Given the description of an element on the screen output the (x, y) to click on. 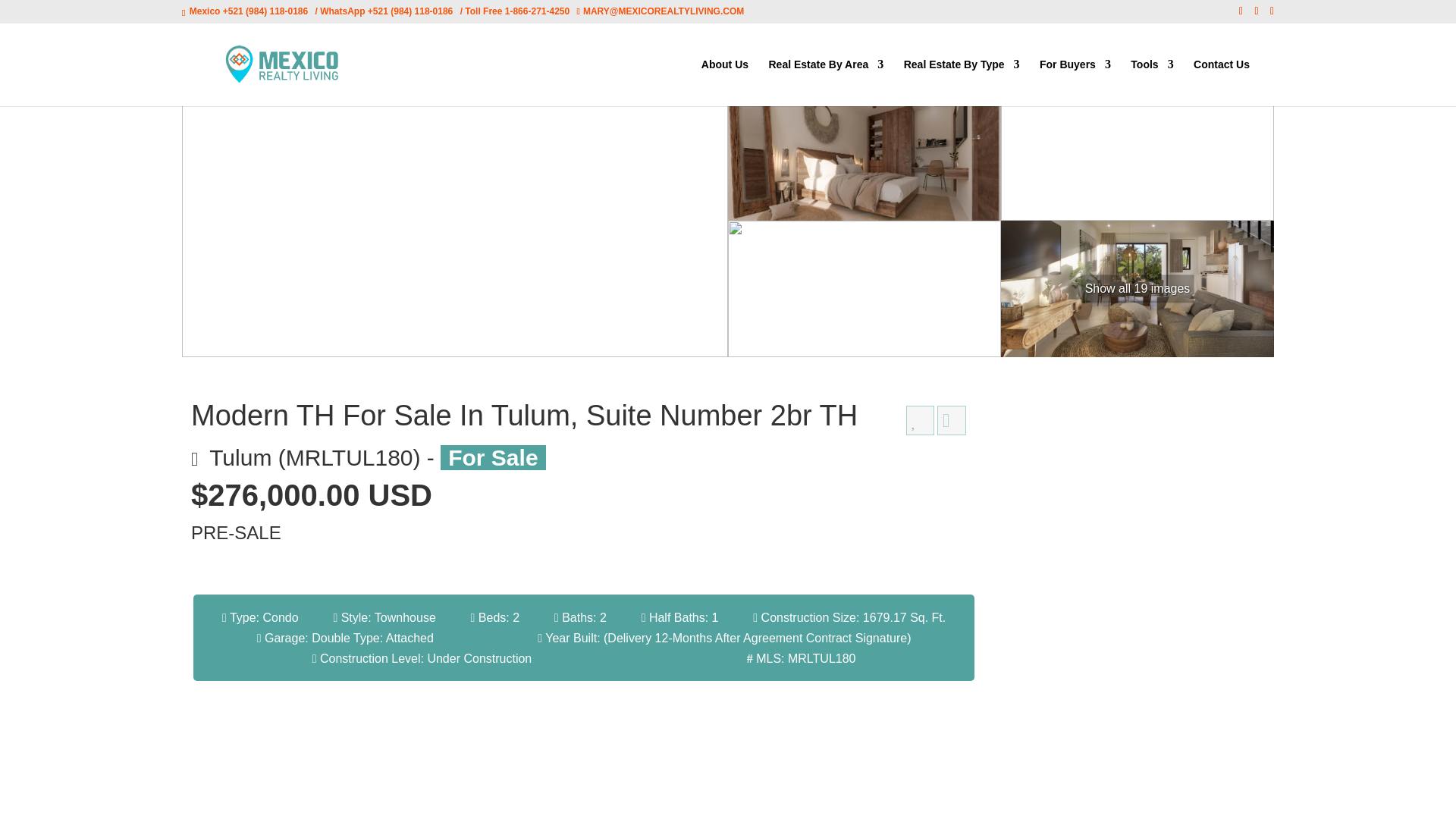
For Buyers (1074, 82)
Real Estate By Area (825, 82)
Toll Free 1-866-271-4250 (516, 10)
About Us (724, 82)
Real Estate By Type (962, 82)
Contact Us (1221, 82)
Tools (1152, 82)
